Given the description of an element on the screen output the (x, y) to click on. 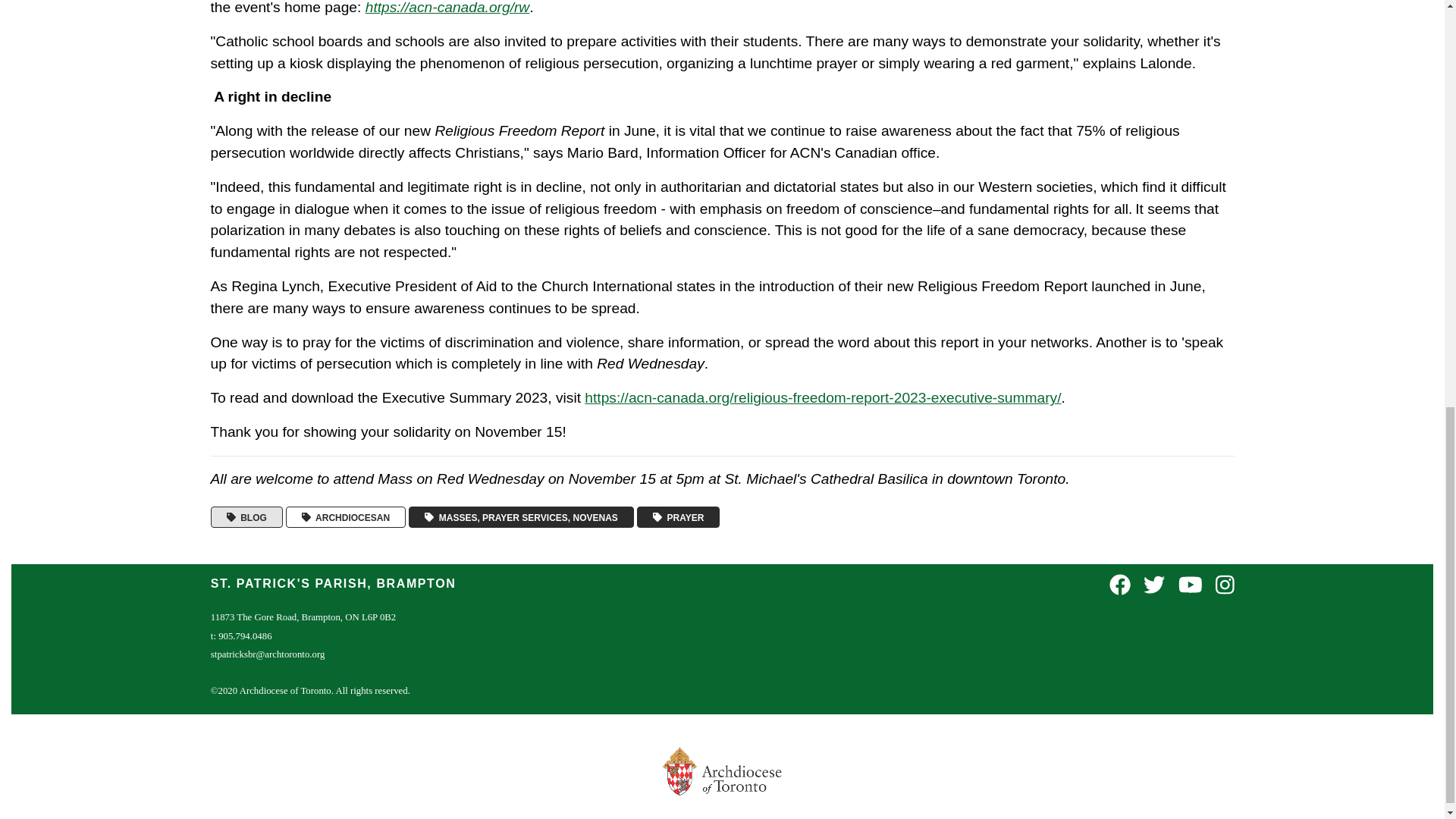
Visit us on Twitter (1153, 585)
Blog (246, 517)
Contact us by phone (241, 635)
Visit us on YouTube (1189, 585)
Archdiocese of Toronto (345, 517)
Visit us on Facebook (1120, 585)
Contact us by email (267, 654)
Get directions (303, 616)
Masses, Prayer Services, Novenas (521, 517)
Prayer (678, 517)
